Given the description of an element on the screen output the (x, y) to click on. 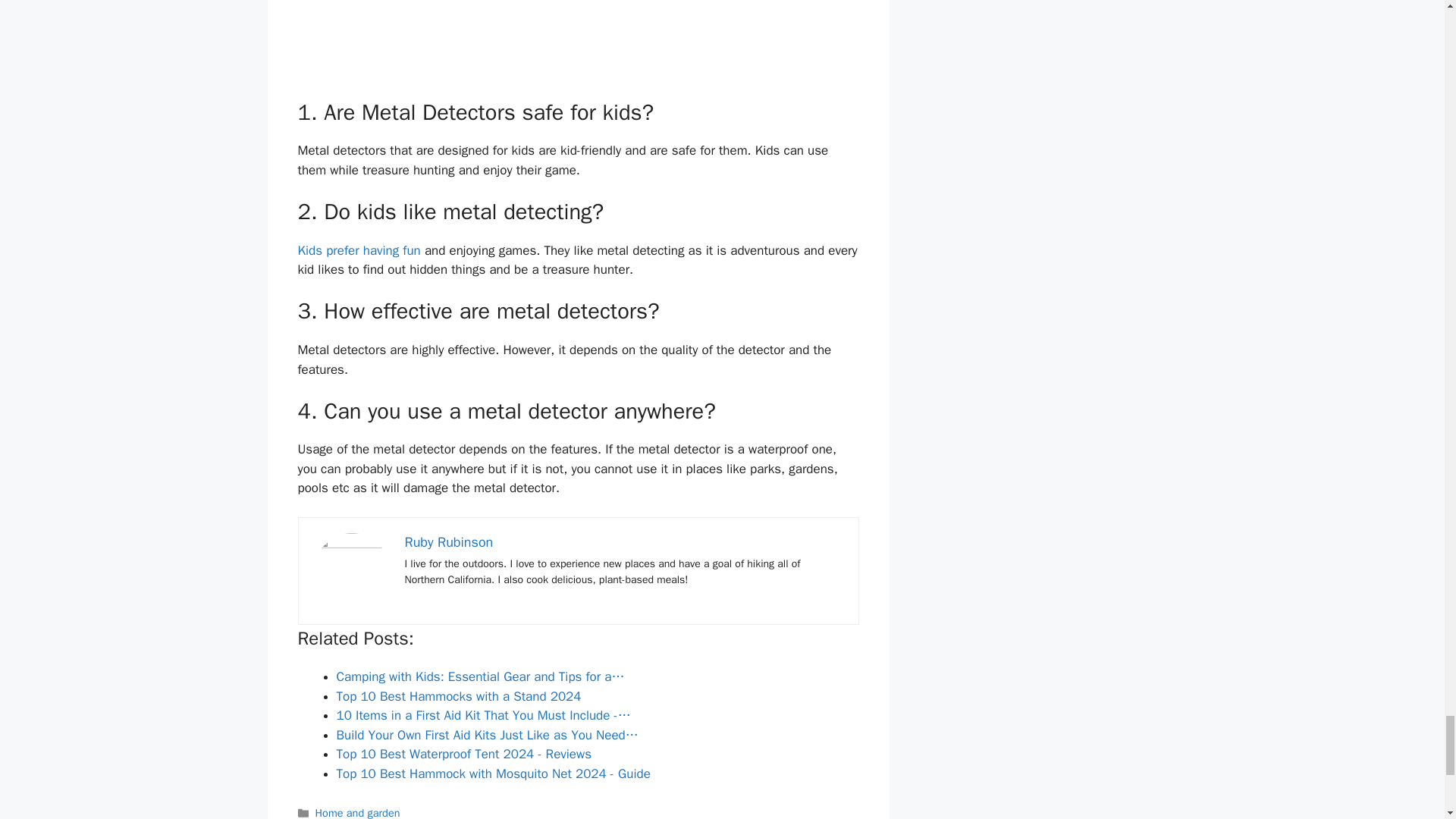
Top 10 Best Hammocks with a Stand 2024 (458, 696)
Top 10 Best Hammock with Mosquito Net 2024 - Guide (493, 773)
Home and garden (357, 812)
Top 10 Best Waterproof Tent 2024 - Reviews (464, 754)
Ruby Rubinson (448, 541)
Kids prefer having fun (358, 250)
